Given the description of an element on the screen output the (x, y) to click on. 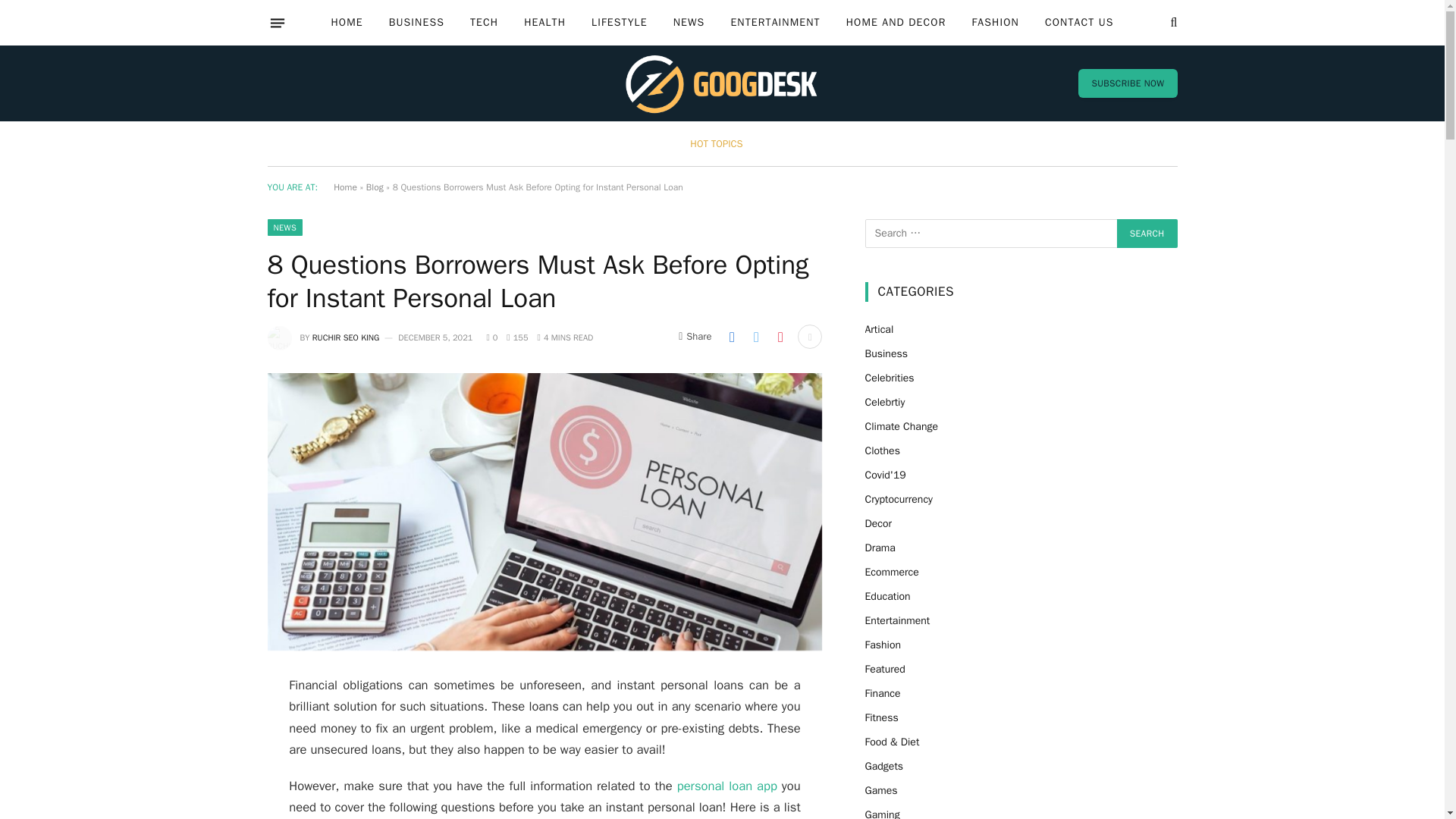
BUSINESS (416, 22)
Share on Facebook (731, 336)
NEWS (689, 22)
HOME AND DECOR (895, 22)
155 Article Views (516, 337)
Search (1146, 233)
HEALTH (544, 22)
LIFESTYLE (619, 22)
Share on Pinterest (780, 336)
ENTERTAINMENT (774, 22)
Googdesk (721, 83)
HOME (346, 22)
FASHION (994, 22)
Search (1146, 233)
Home (344, 186)
